Given the description of an element on the screen output the (x, y) to click on. 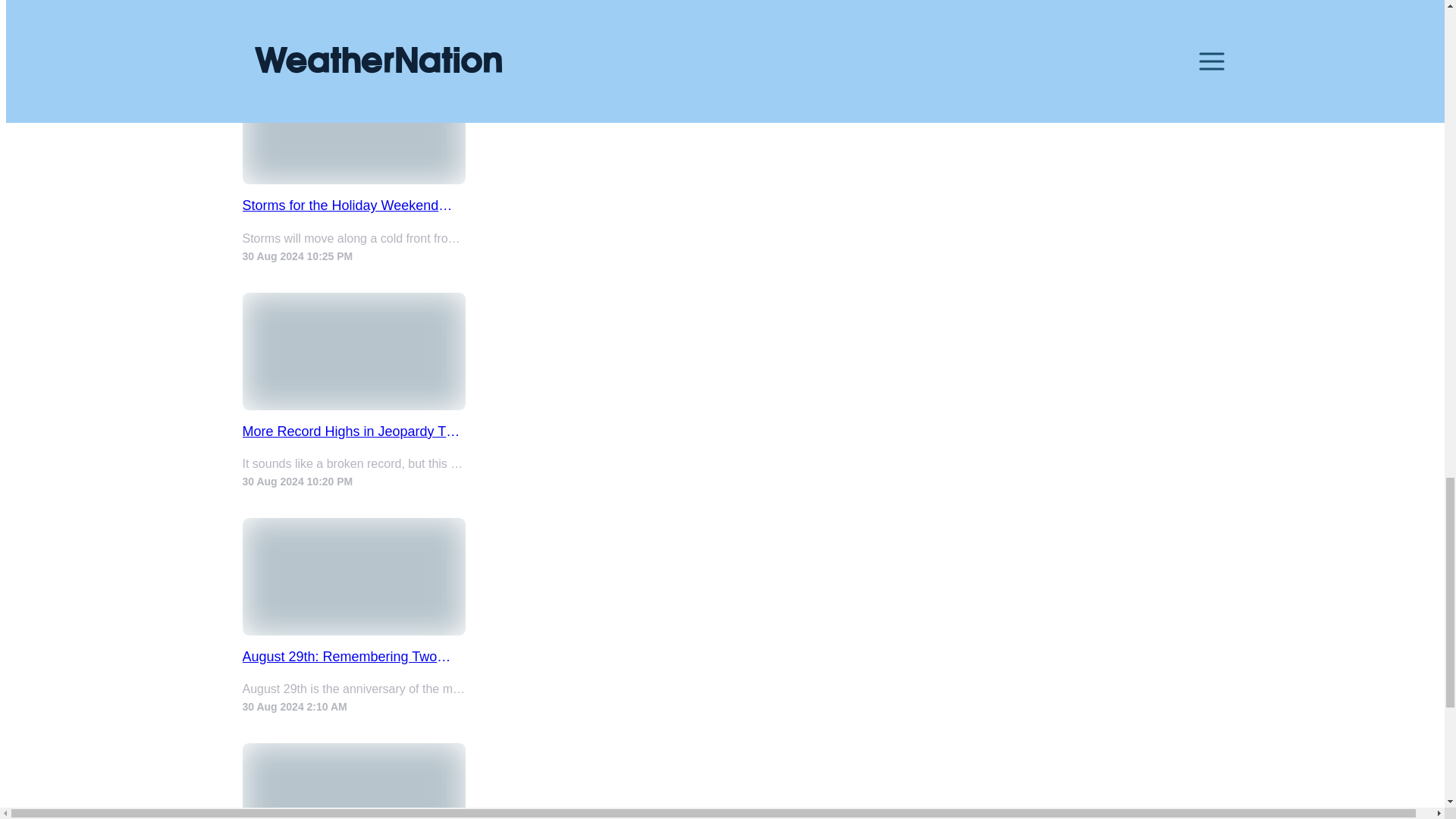
More Record Highs in Jeopardy This Week (354, 431)
Storms for the Holiday Weekend Across the Northeast (354, 205)
